Given the description of an element on the screen output the (x, y) to click on. 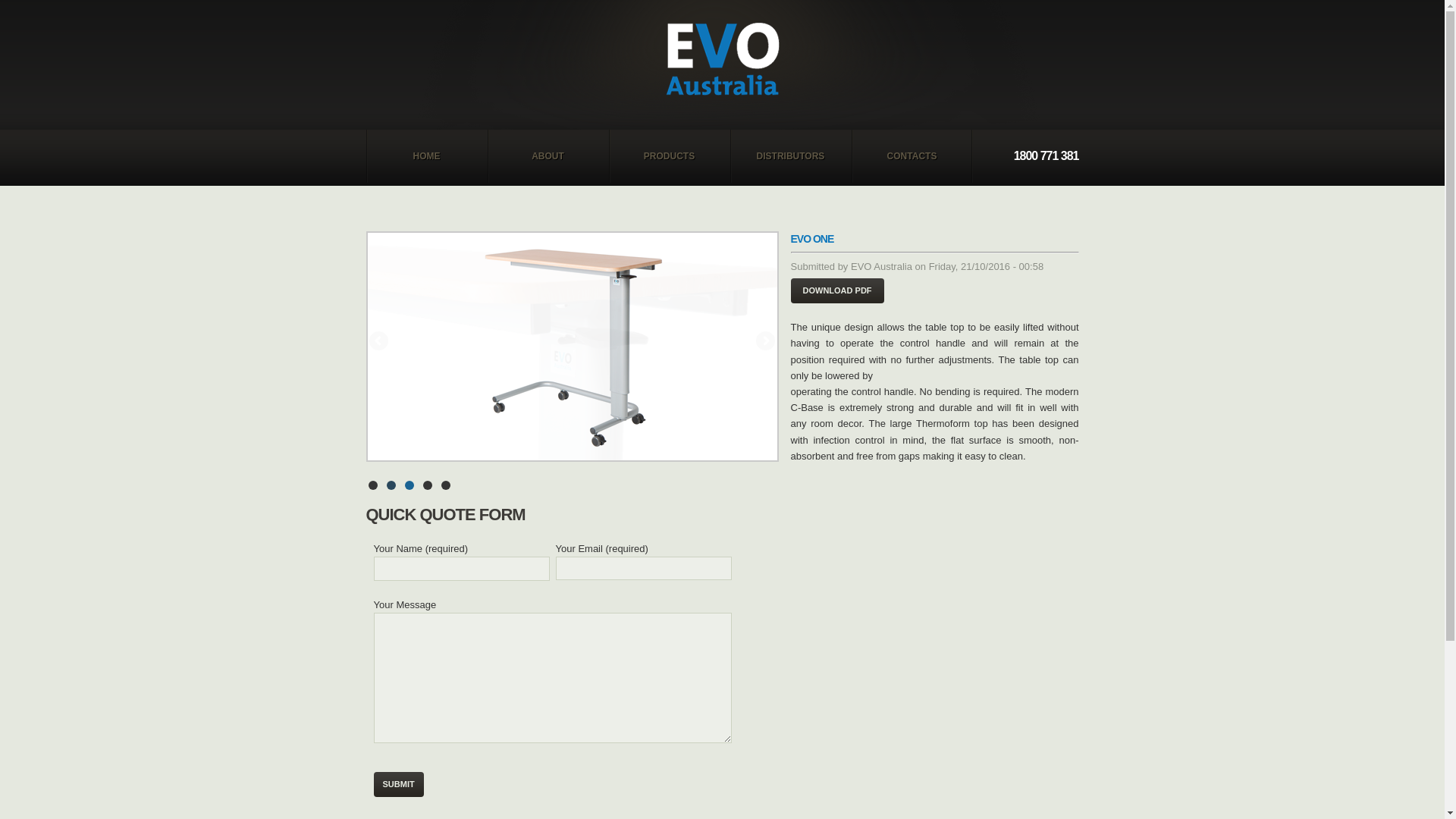
Prev Element type: text (378, 340)
2 Element type: text (390, 484)
1 Element type: text (372, 484)
Submit Element type: text (398, 784)
3 Element type: text (409, 484)
HOME Element type: text (425, 155)
PRODUCTS Element type: text (668, 155)
4 Element type: text (427, 484)
ABOUT Element type: text (547, 155)
EVO Australia Element type: text (881, 266)
5 Element type: text (445, 484)
1800 771 381 Element type: text (1046, 155)
CONTACTS Element type: text (911, 155)
Next Element type: text (765, 340)
DOWNLOAD PDF Element type: text (836, 290)
DISTRIBUTORS Element type: text (789, 155)
